Given the description of an element on the screen output the (x, y) to click on. 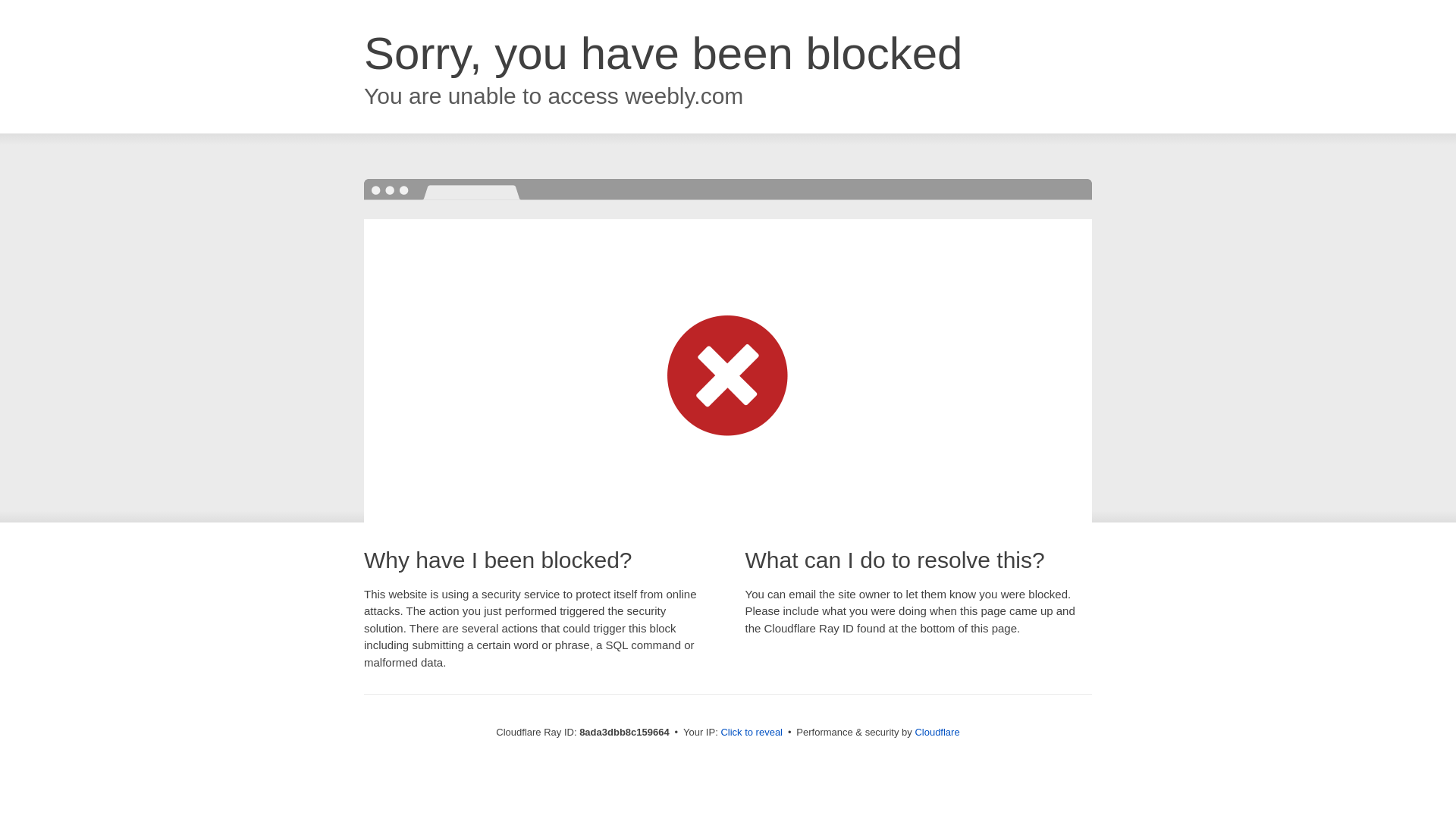
Click to reveal (751, 732)
Cloudflare (936, 731)
